Given the description of an element on the screen output the (x, y) to click on. 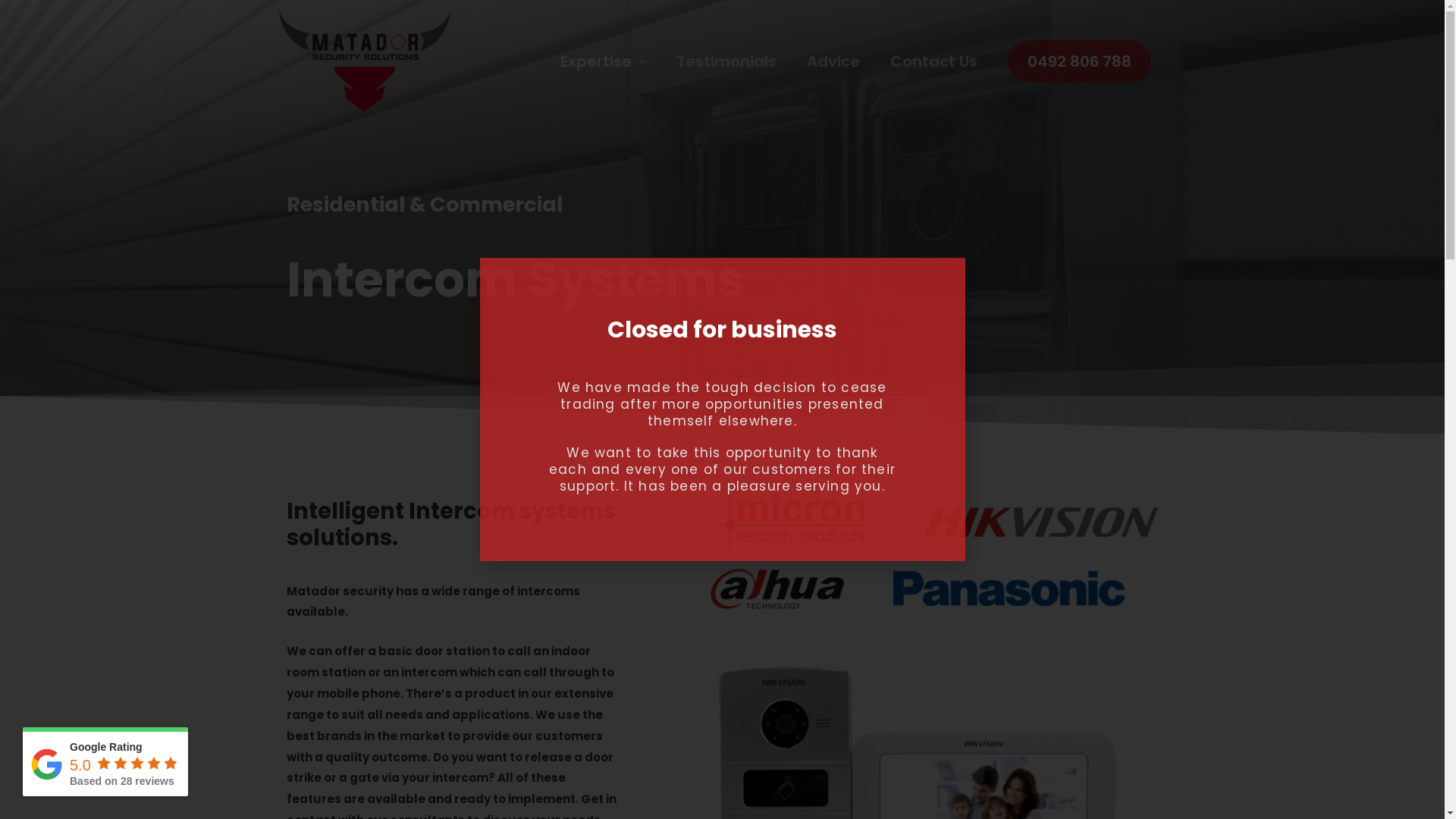
Intercoms 3 Element type: hover (777, 588)
0492 806 788 Element type: text (1078, 61)
Advice Element type: text (833, 61)
Contact Us Element type: text (933, 61)
Expertise Element type: text (602, 61)
Intercoms 1 Element type: hover (792, 521)
Intercoms 2 Element type: hover (1040, 521)
Testimonials Element type: text (726, 61)
Intercoms 4 Element type: hover (1008, 588)
